Given the description of an element on the screen output the (x, y) to click on. 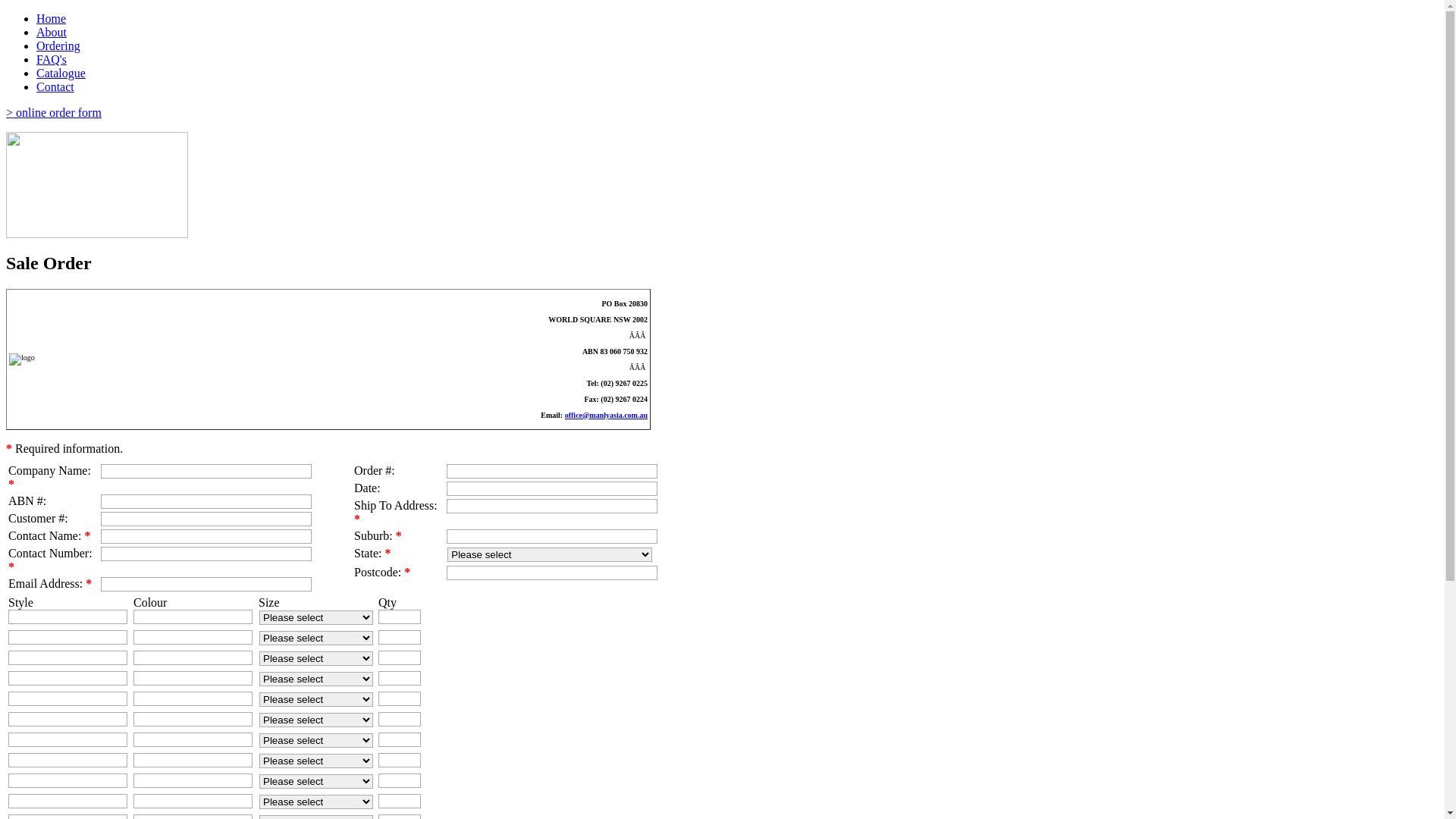
About Element type: text (51, 31)
Catalogue Element type: text (60, 72)
> online order form Element type: text (53, 112)
Home Element type: text (50, 18)
FAQ's Element type: text (51, 59)
Ordering Element type: text (58, 45)
Contact Element type: text (55, 86)
office@manlyasia.com.au Element type: text (605, 415)
